Given the description of an element on the screen output the (x, y) to click on. 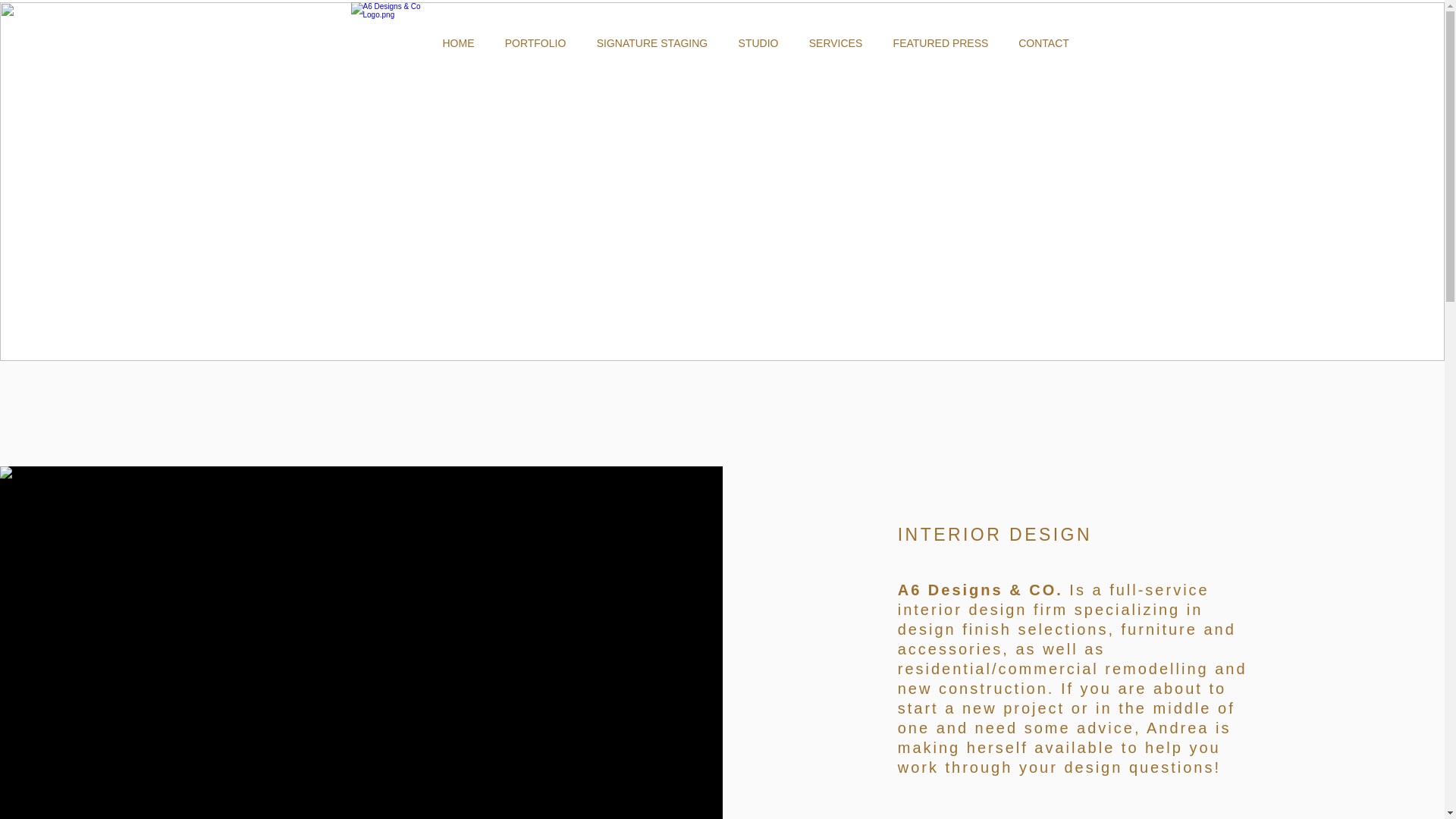
SERVICES Element type: text (835, 43)
FEATURED PRESS Element type: text (941, 43)
SIGNATURE STAGING Element type: text (651, 43)
HOME Element type: text (458, 43)
PORTFOLIO Element type: text (535, 43)
CONTACT Element type: text (1044, 43)
STUDIO Element type: text (758, 43)
